Given the description of an element on the screen output the (x, y) to click on. 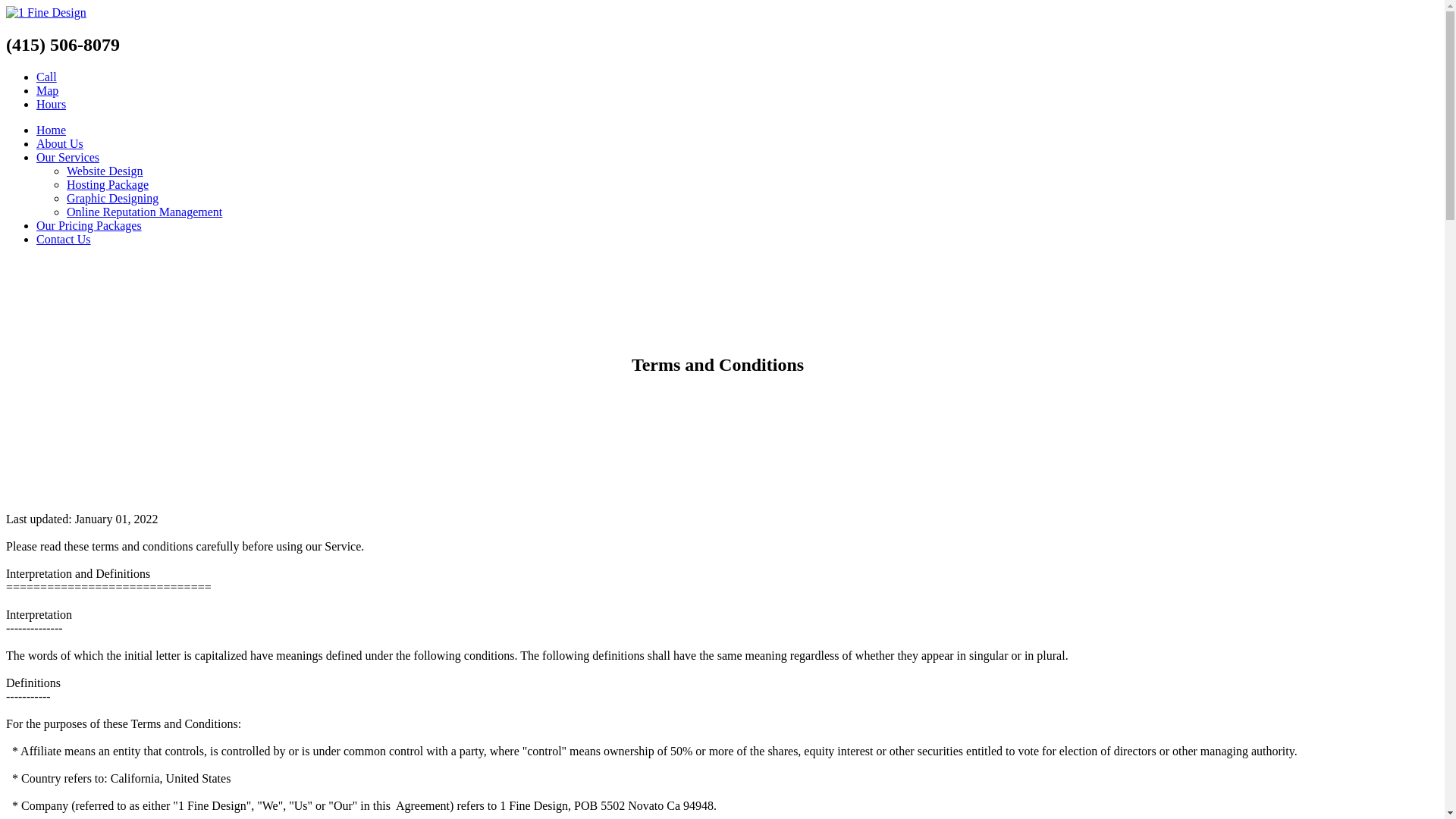
Website Design Element type: text (752, 171)
Our Pricing Packages Element type: text (737, 225)
Call Element type: text (46, 76)
Graphic Designing Element type: text (752, 198)
About Us Element type: text (737, 143)
Hosting Package Element type: text (752, 184)
Our Services Element type: text (737, 157)
Map Element type: text (47, 90)
Online Reputation Management Element type: text (752, 212)
Contact Us Element type: text (737, 239)
Home Element type: text (737, 130)
Hours Element type: text (50, 103)
